Given the description of an element on the screen output the (x, y) to click on. 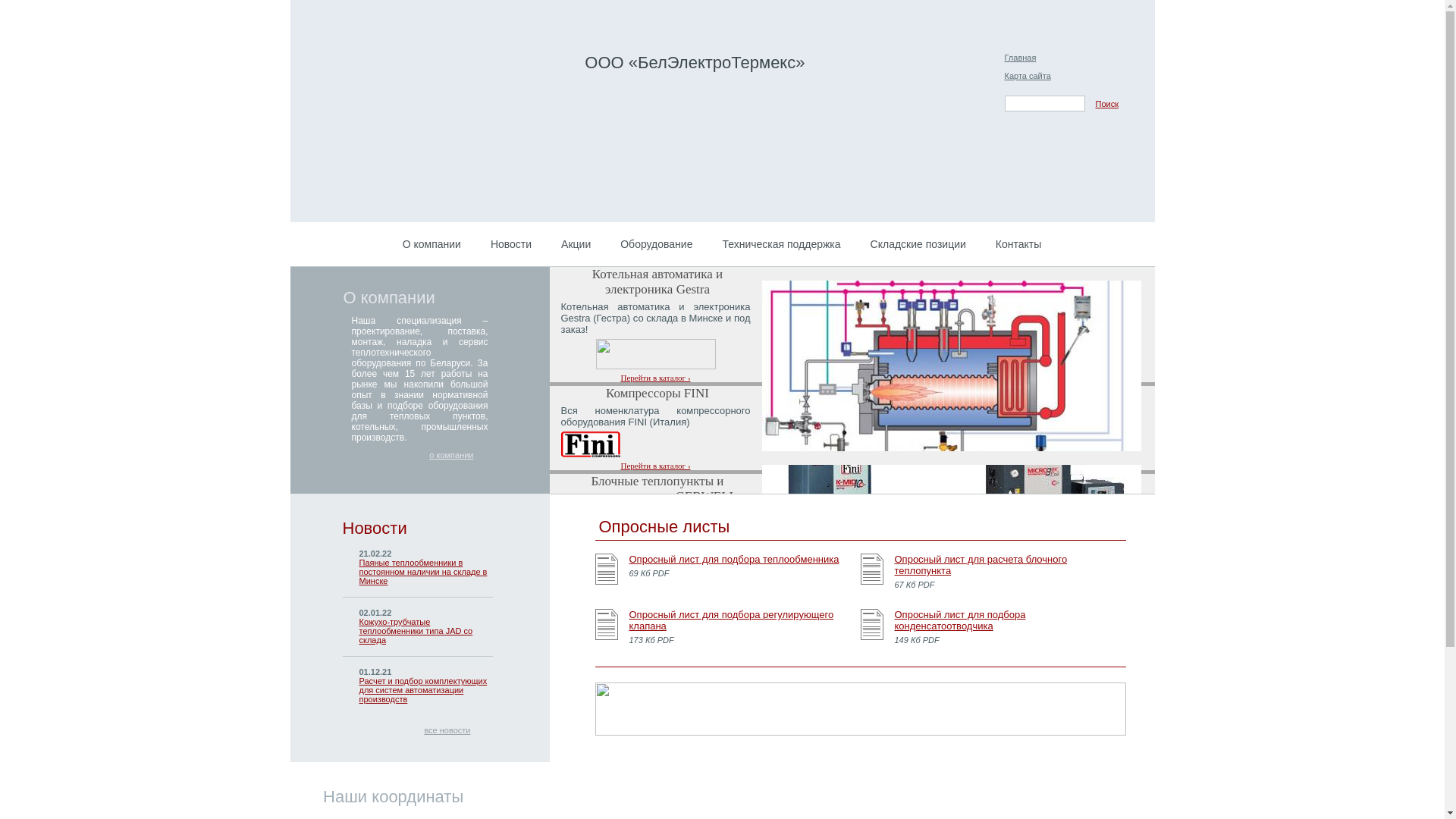
www.etx.by Element type: hover (480, 59)
